Given the description of an element on the screen output the (x, y) to click on. 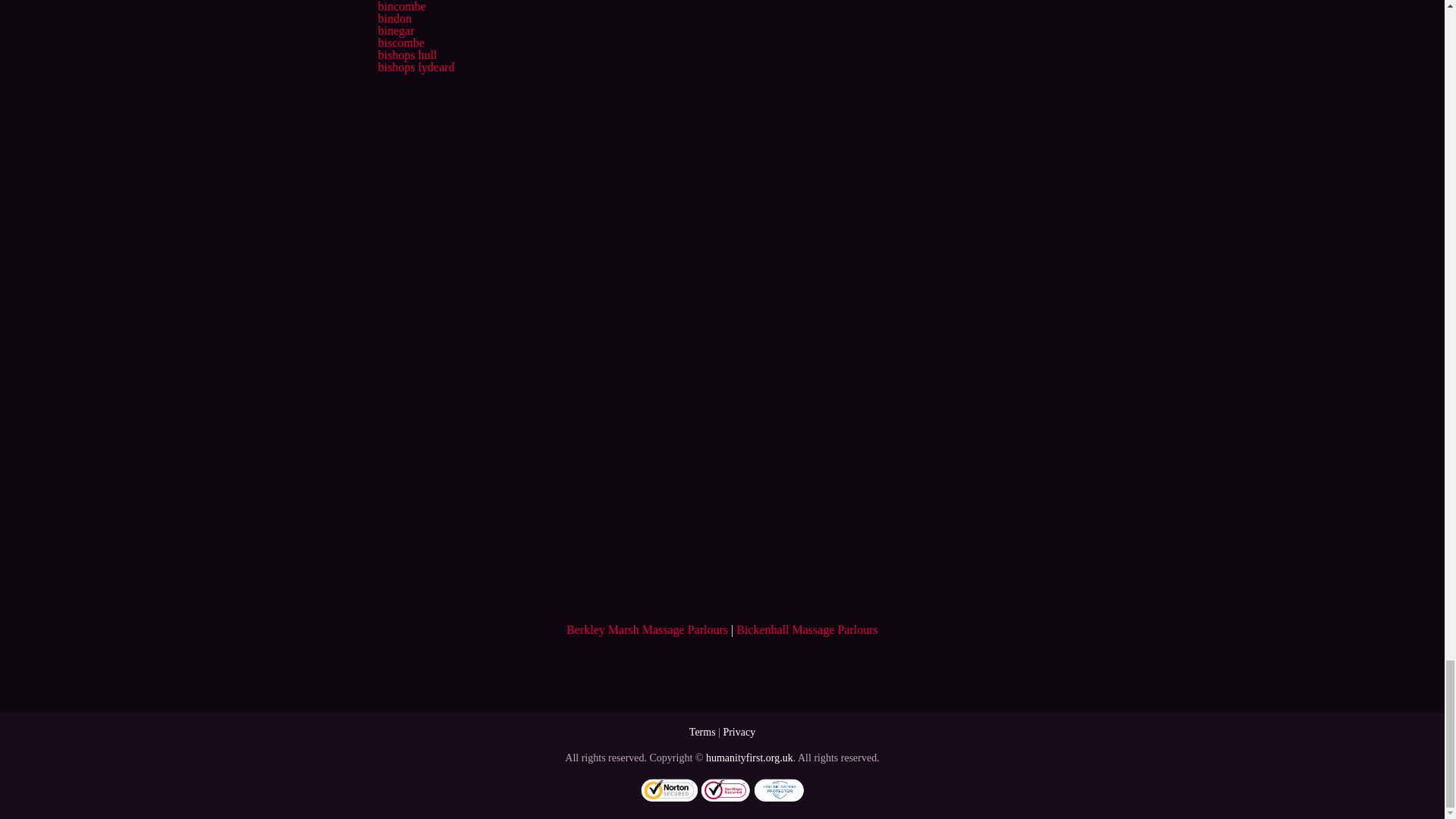
bindon (393, 18)
binegar (395, 30)
bishops hull (406, 54)
humanityfirst.org.uk (749, 757)
Privacy (738, 731)
bishops lydeard (415, 66)
Terms (702, 731)
Privacy (738, 731)
Berkley Marsh Massage Parlours (647, 629)
bincombe (401, 6)
Bickenhall Massage Parlours (806, 629)
Terms (702, 731)
bilbrook (398, 0)
biscombe (400, 42)
